Given the description of an element on the screen output the (x, y) to click on. 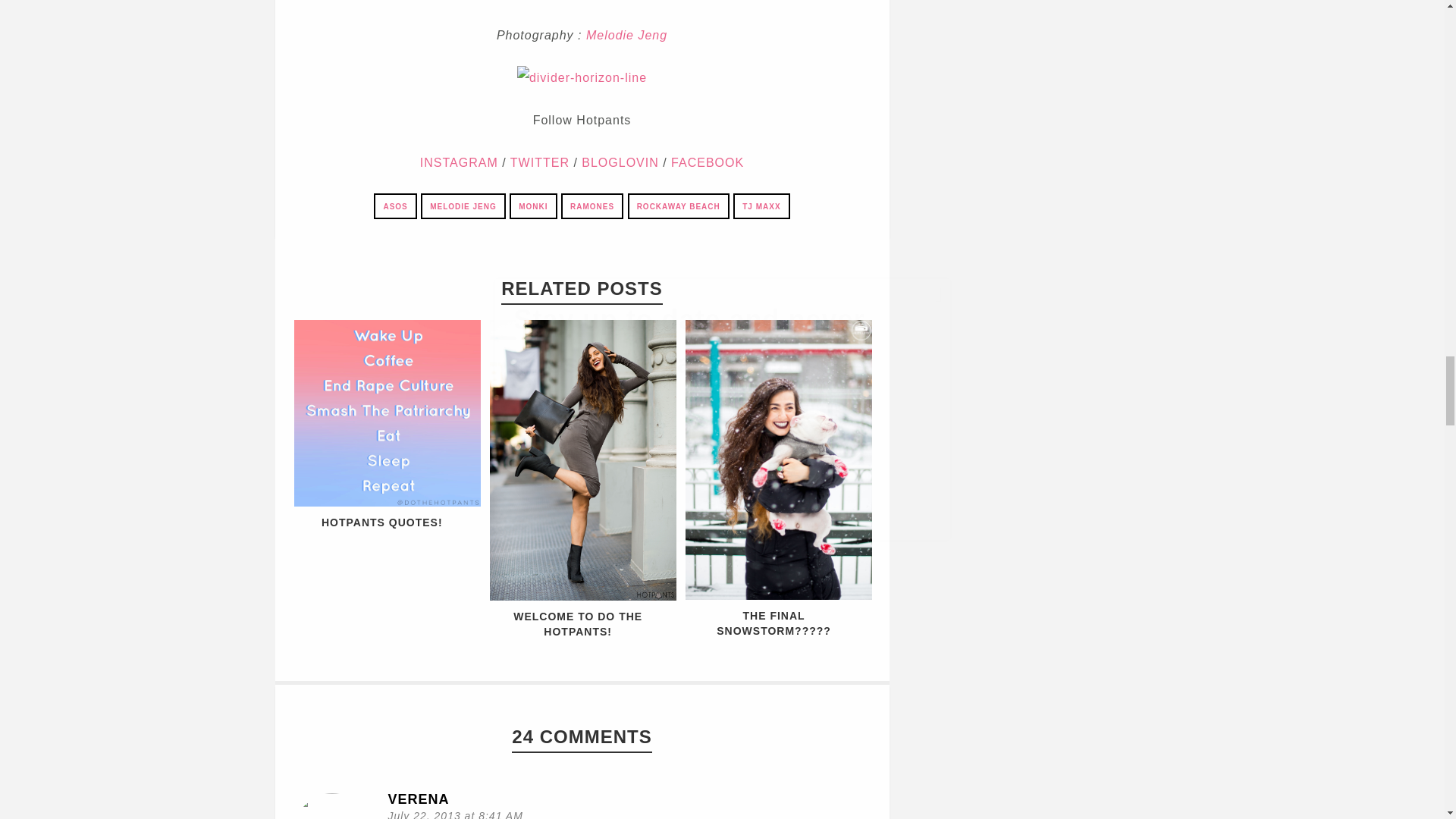
Permanent Link to Hotpants Quotes! (381, 522)
Permanent Link to Welcome to DO THE HOTPANTS! (583, 595)
Permanent Link to The Final Snowstorm????? (773, 623)
Permanent Link to The Final Snowstorm????? (778, 594)
Permanent Link to Hotpants Quotes! (387, 502)
Permanent Link to Welcome to DO THE HOTPANTS! (577, 624)
